Given the description of an element on the screen output the (x, y) to click on. 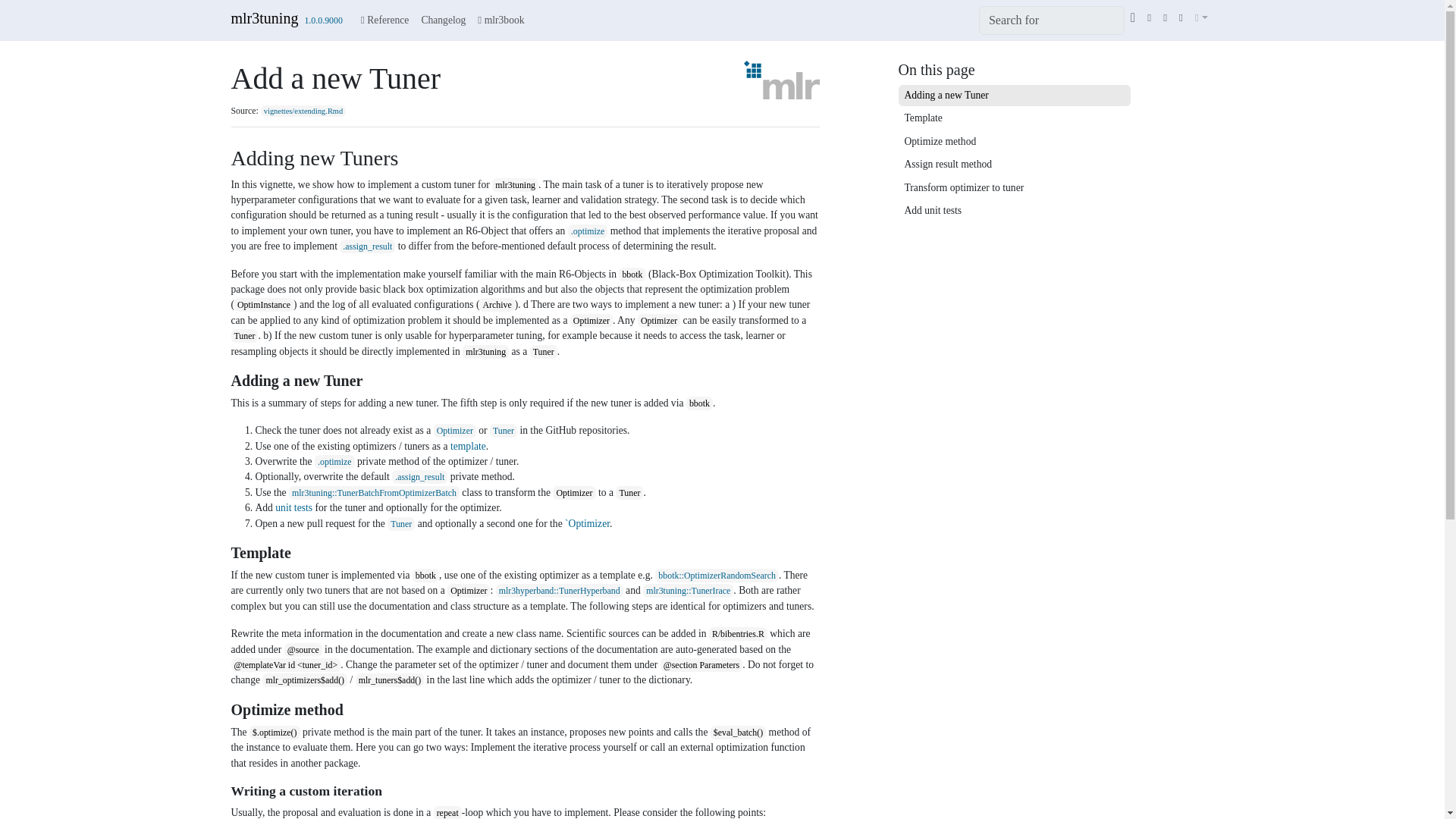
bbotk::OptimizerRandomSearch (716, 574)
.optimize (334, 460)
Reference (384, 20)
mlr3tuning::TunerIrace (688, 590)
unit tests (294, 507)
mlr3tuning::TunerBatchFromOptimizerBatch (374, 491)
Tuner (400, 523)
mlr3tuning (264, 18)
Optimizer (454, 430)
Tuner (502, 430)
